Given the description of an element on the screen output the (x, y) to click on. 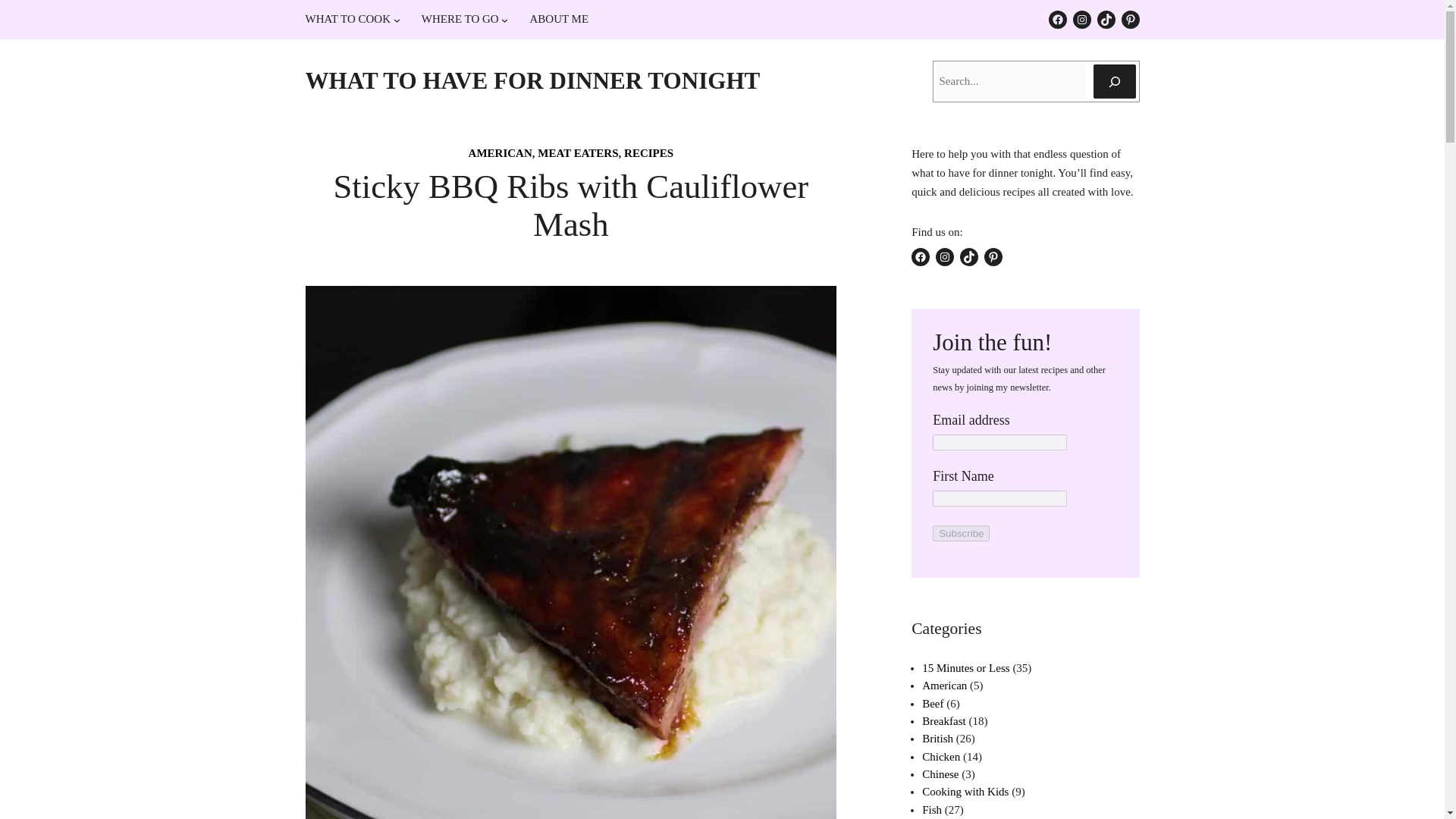
Facebook (1056, 19)
ABOUT ME (558, 18)
TikTok (1105, 19)
WHERE TO GO (460, 18)
Instagram (1080, 19)
WHAT TO COOK (347, 18)
Pinterest (1129, 19)
Subscribe (961, 533)
